Given the description of an element on the screen output the (x, y) to click on. 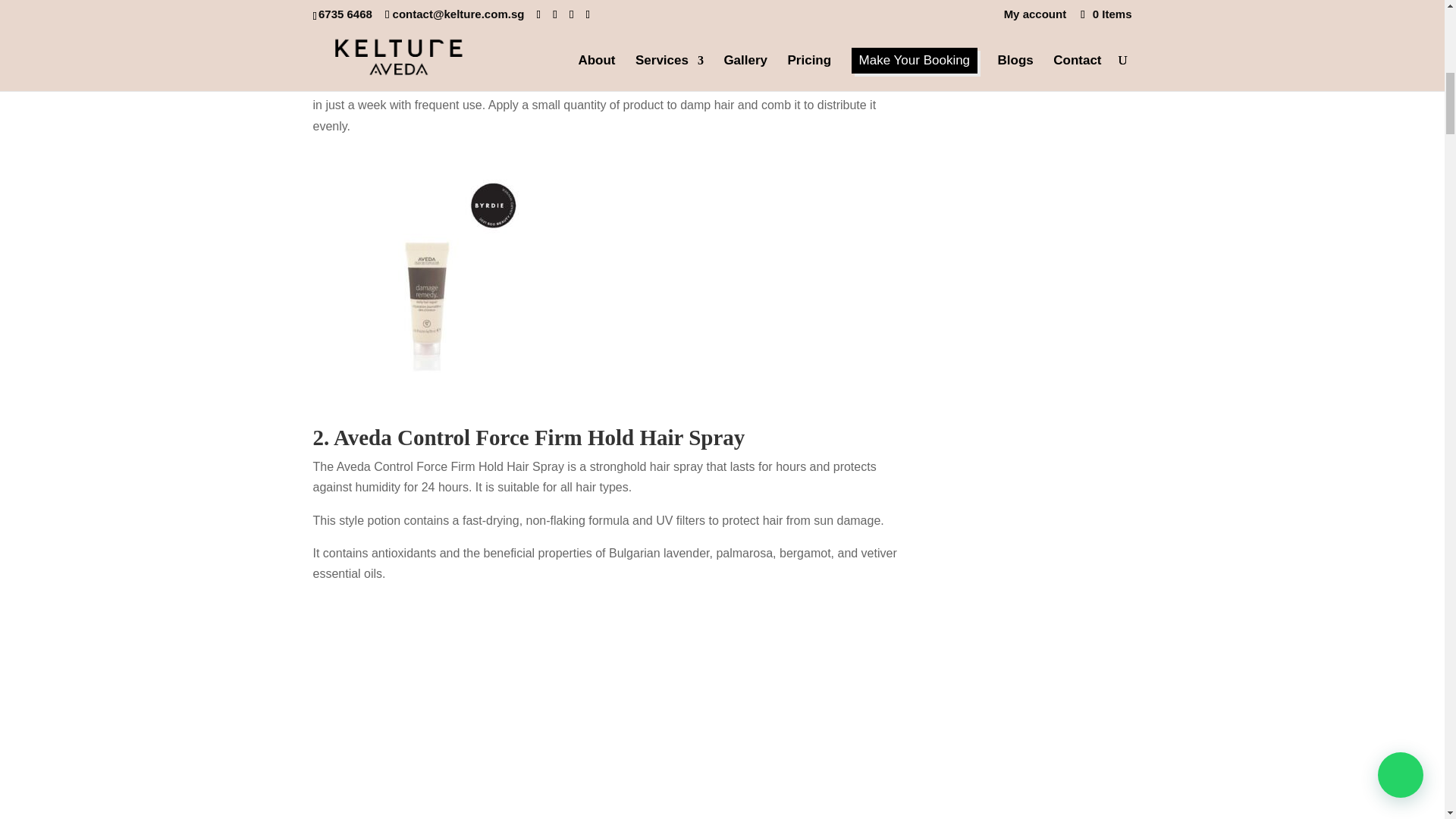
The Top 8 Hair Products To Change the Way You Do Your Hair 1 (426, 261)
